Given the description of an element on the screen output the (x, y) to click on. 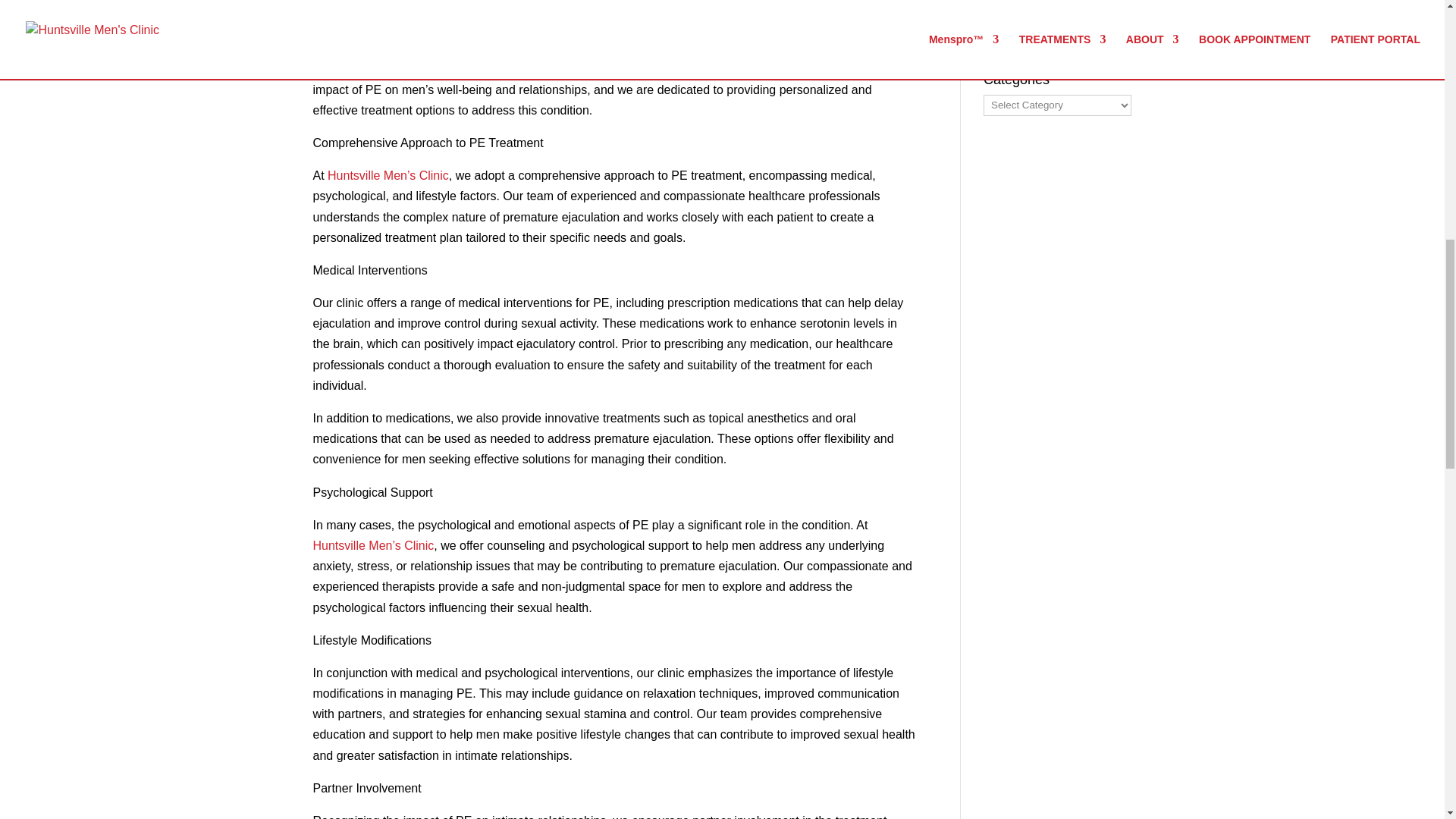
Home Page (373, 545)
Home Page (387, 174)
February 2024 (1023, 12)
Home Page (692, 68)
December 2023 (1027, 39)
